Given the description of an element on the screen output the (x, y) to click on. 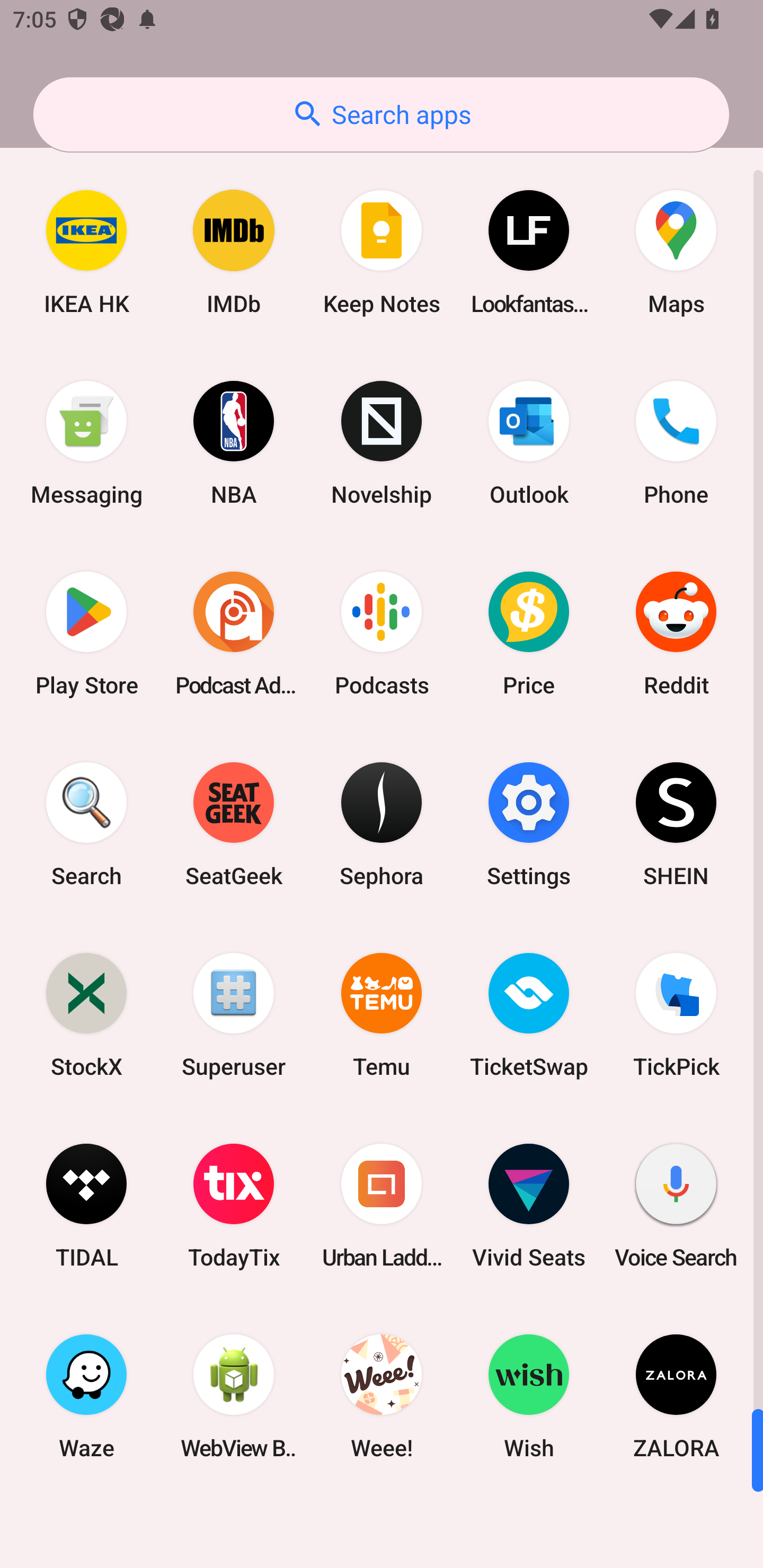
  Search apps (381, 114)
IKEA HK (86, 252)
IMDb (233, 252)
Keep Notes (381, 252)
Lookfantastic (528, 252)
Maps (676, 252)
Messaging (86, 442)
NBA (233, 442)
Novelship (381, 442)
Outlook (528, 442)
Phone (676, 442)
Play Store (86, 633)
Podcast Addict (233, 633)
Podcasts (381, 633)
Price (528, 633)
Reddit (676, 633)
Search (86, 823)
SeatGeek (233, 823)
Sephora (381, 823)
Settings (528, 823)
SHEIN (676, 823)
StockX (86, 1014)
Superuser (233, 1014)
Temu (381, 1014)
TicketSwap (528, 1014)
TickPick (676, 1014)
TIDAL (86, 1205)
TodayTix (233, 1205)
Urban Ladder (381, 1205)
Vivid Seats (528, 1205)
Voice Search (676, 1205)
Waze (86, 1396)
WebView Browser Tester (233, 1396)
Weee! (381, 1396)
Wish (528, 1396)
ZALORA (676, 1396)
